Given the description of an element on the screen output the (x, y) to click on. 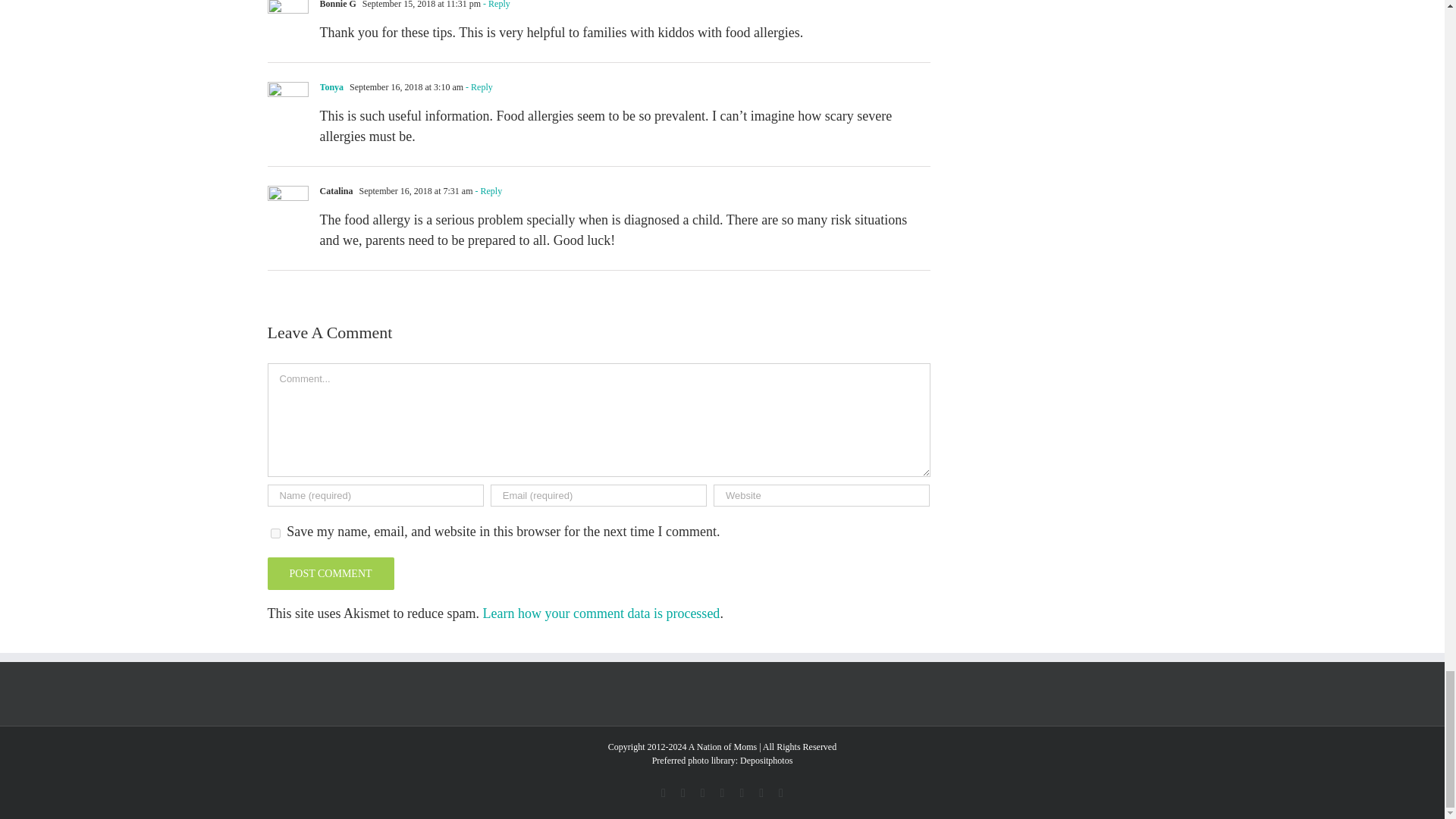
Post Comment (329, 573)
yes (274, 533)
